Given the description of an element on the screen output the (x, y) to click on. 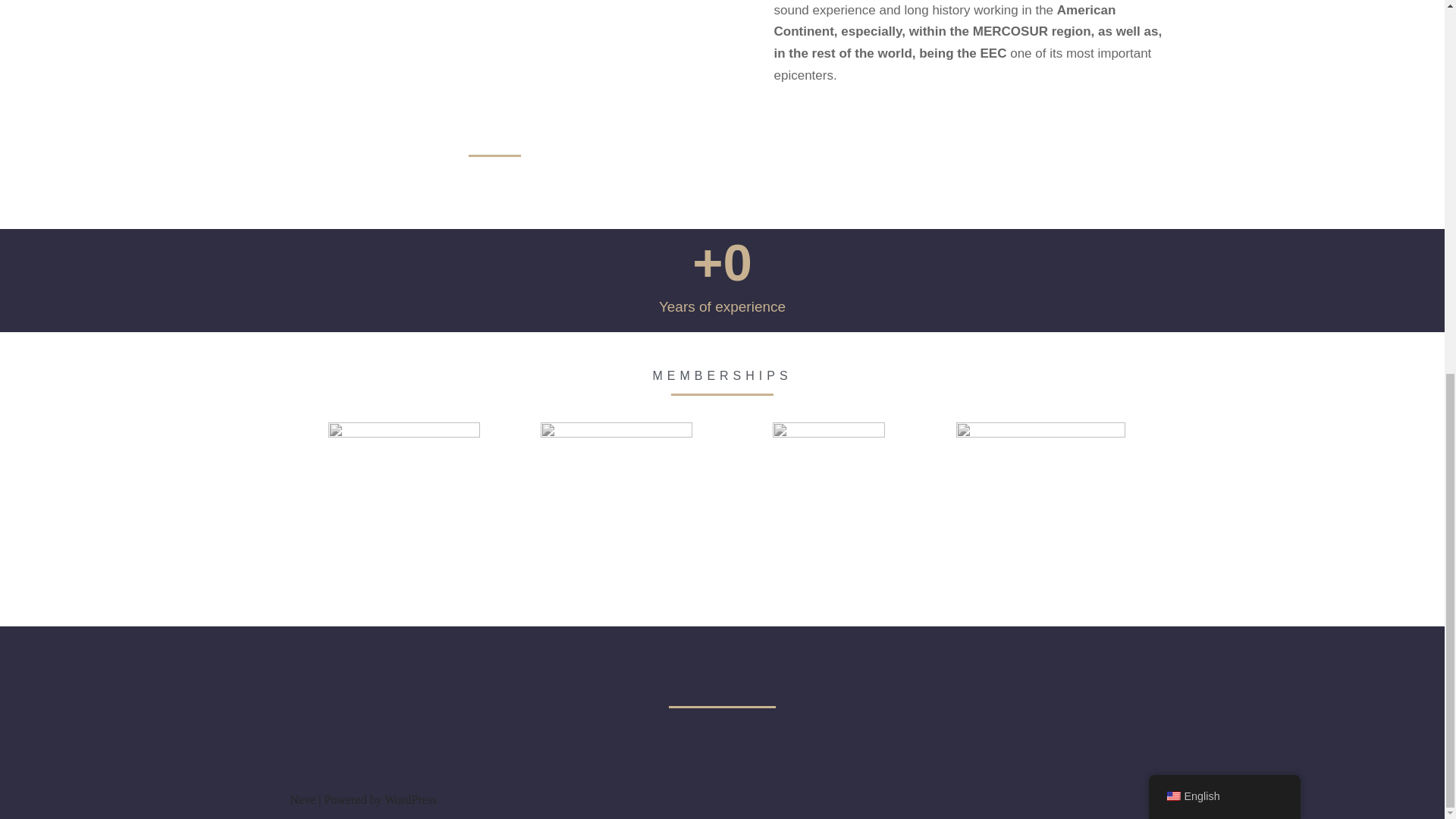
WordPress (410, 799)
English (1172, 111)
English (1224, 111)
Neve (302, 799)
